Given the description of an element on the screen output the (x, y) to click on. 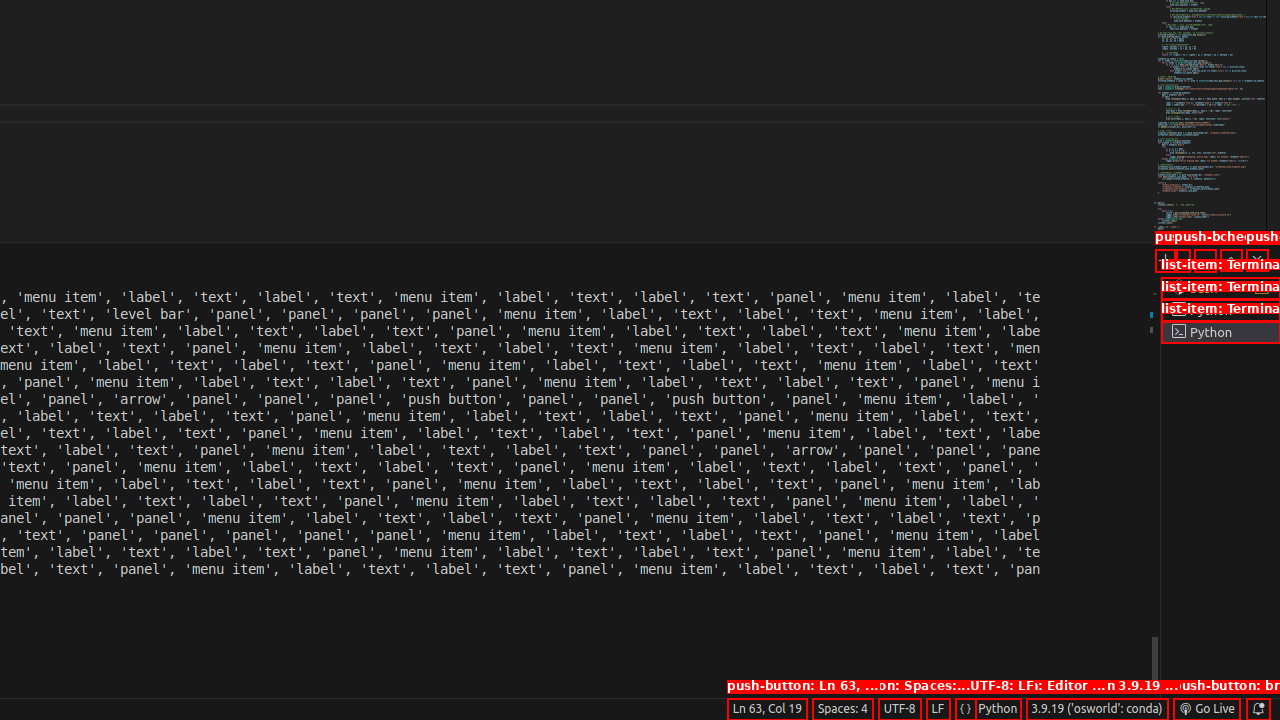
New Terminal (Ctrl+Shift+`) [Alt] Split Terminal (Ctrl+Shift+5) Element type: push-button (1166, 260)
Hide Panel Element type: push-button (1257, 260)
